Given the description of an element on the screen output the (x, y) to click on. 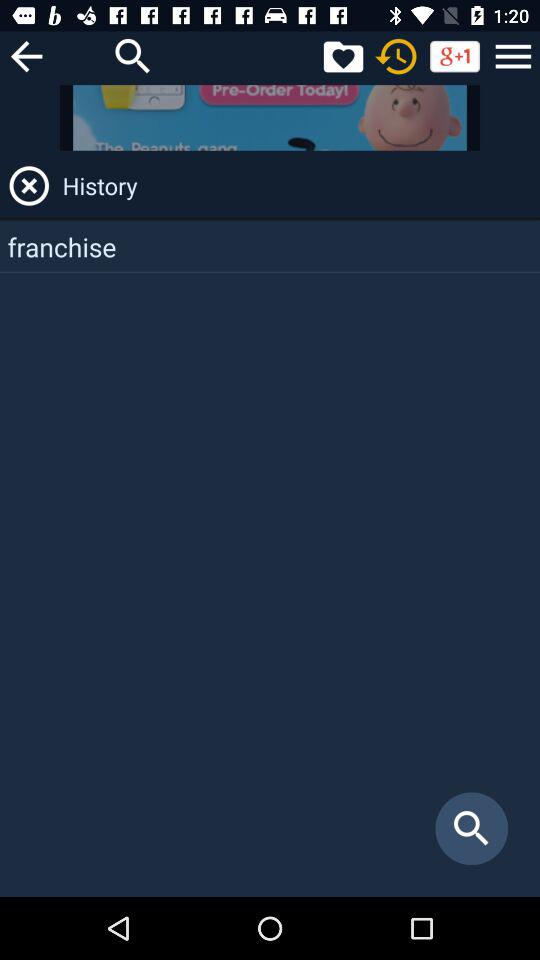
launch item above history (513, 56)
